Given the description of an element on the screen output the (x, y) to click on. 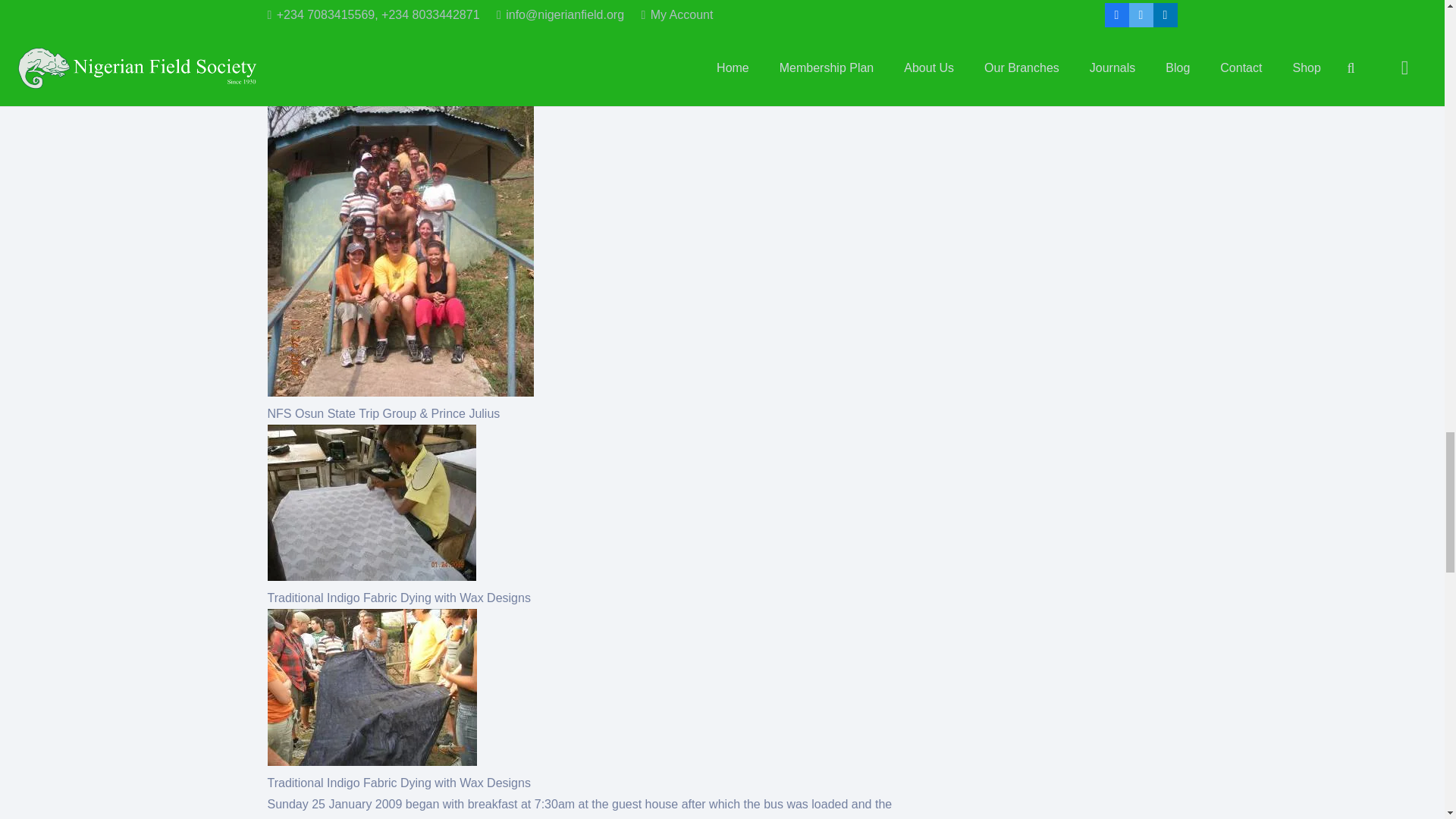
Traditional Indigo Fabric Dying with Wax Designs (371, 687)
Last waterfall of the Olumirin Waterfalls (411, 6)
Traditional Indigo Fabric Dying with Wax Designs (371, 502)
